Given the description of an element on the screen output the (x, y) to click on. 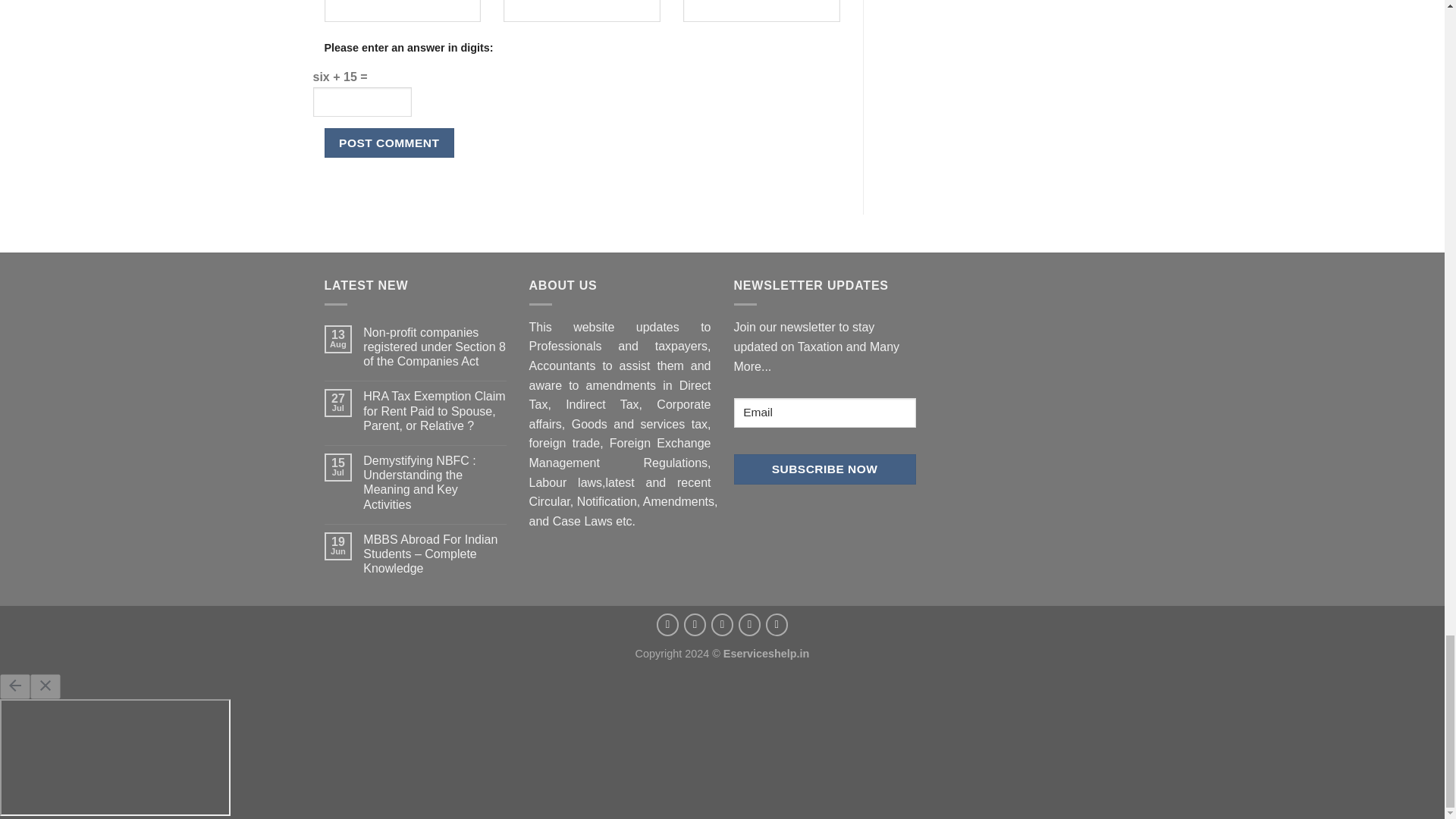
Email (824, 412)
Post Comment (389, 142)
Subscribe Now (824, 469)
